Given the description of an element on the screen output the (x, y) to click on. 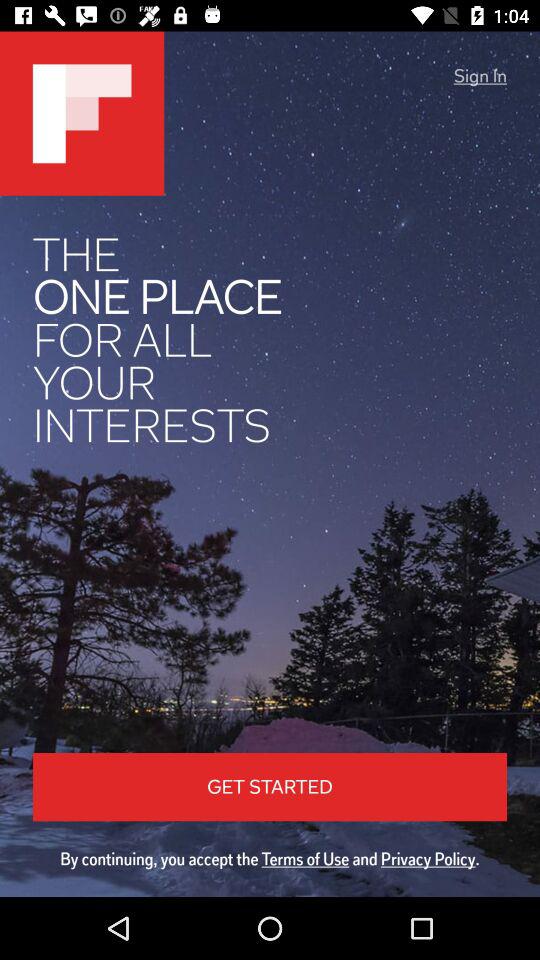
choose by continuing you (270, 858)
